Given the description of an element on the screen output the (x, y) to click on. 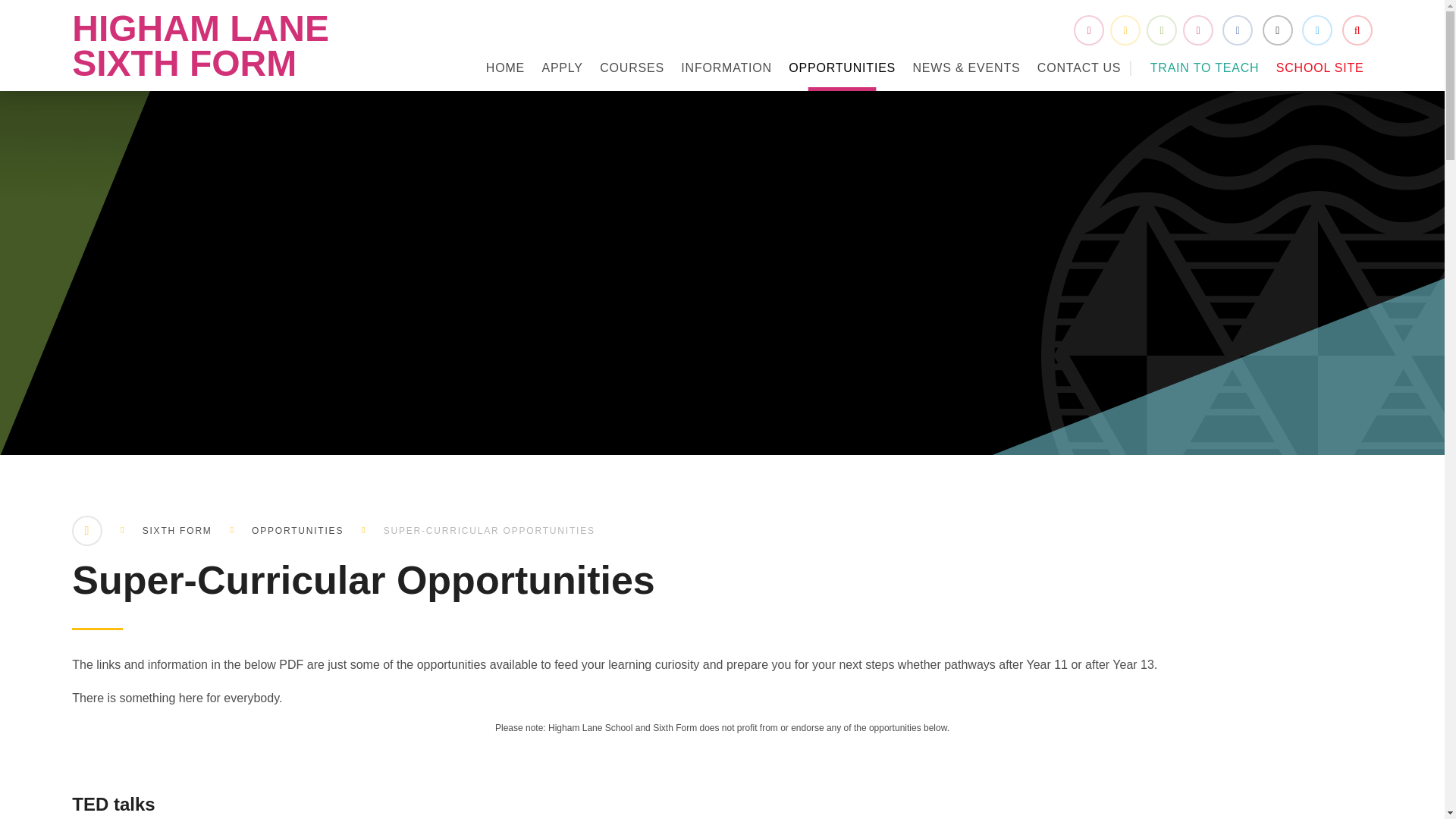
APPLY (561, 67)
HOME (505, 67)
COURSES (631, 67)
